Given the description of an element on the screen output the (x, y) to click on. 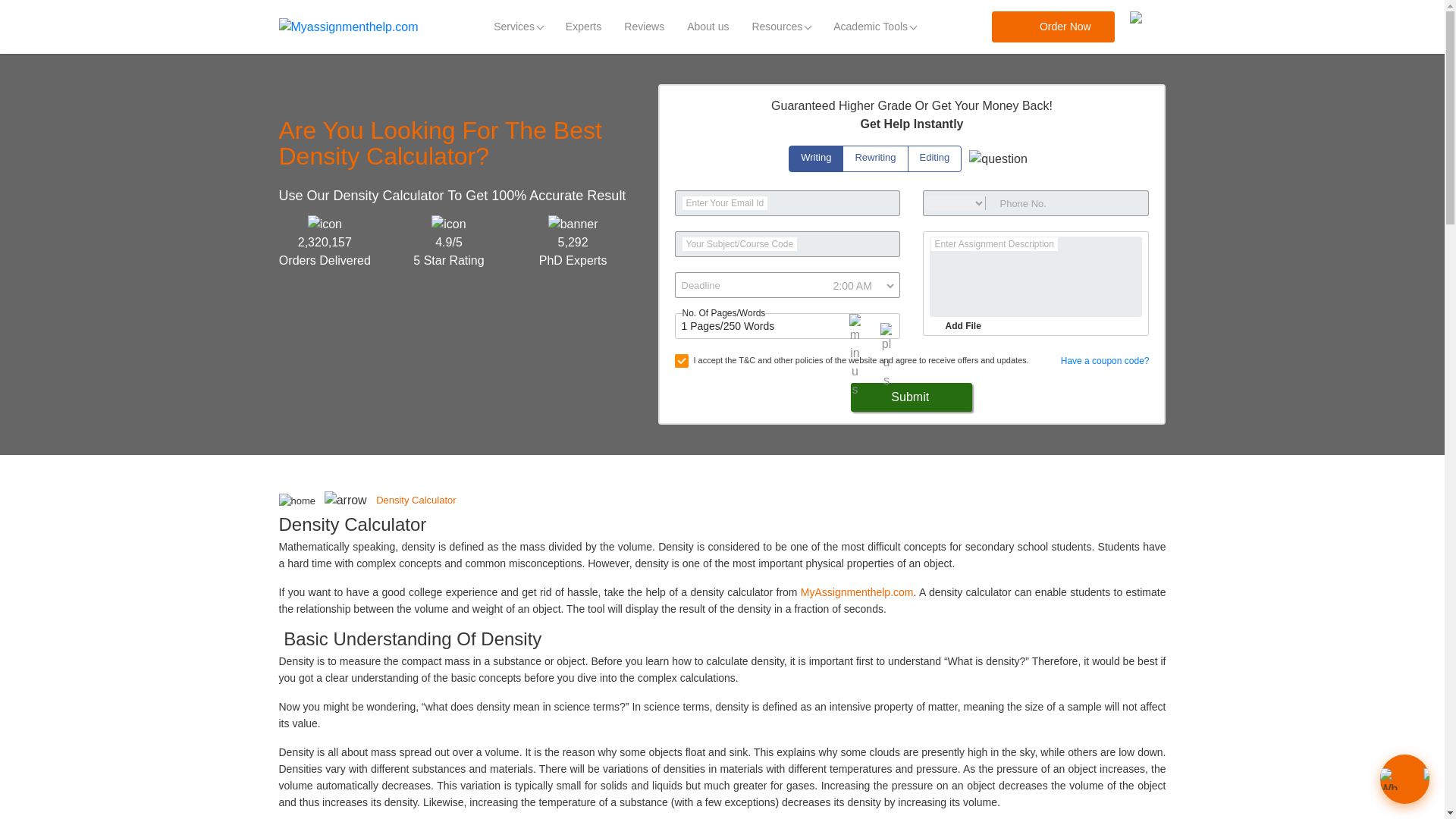
Services (517, 26)
About us (707, 26)
Info (998, 158)
Experts (583, 26)
menu (1147, 26)
Reviews (643, 26)
Resources (780, 26)
